Given the description of an element on the screen output the (x, y) to click on. 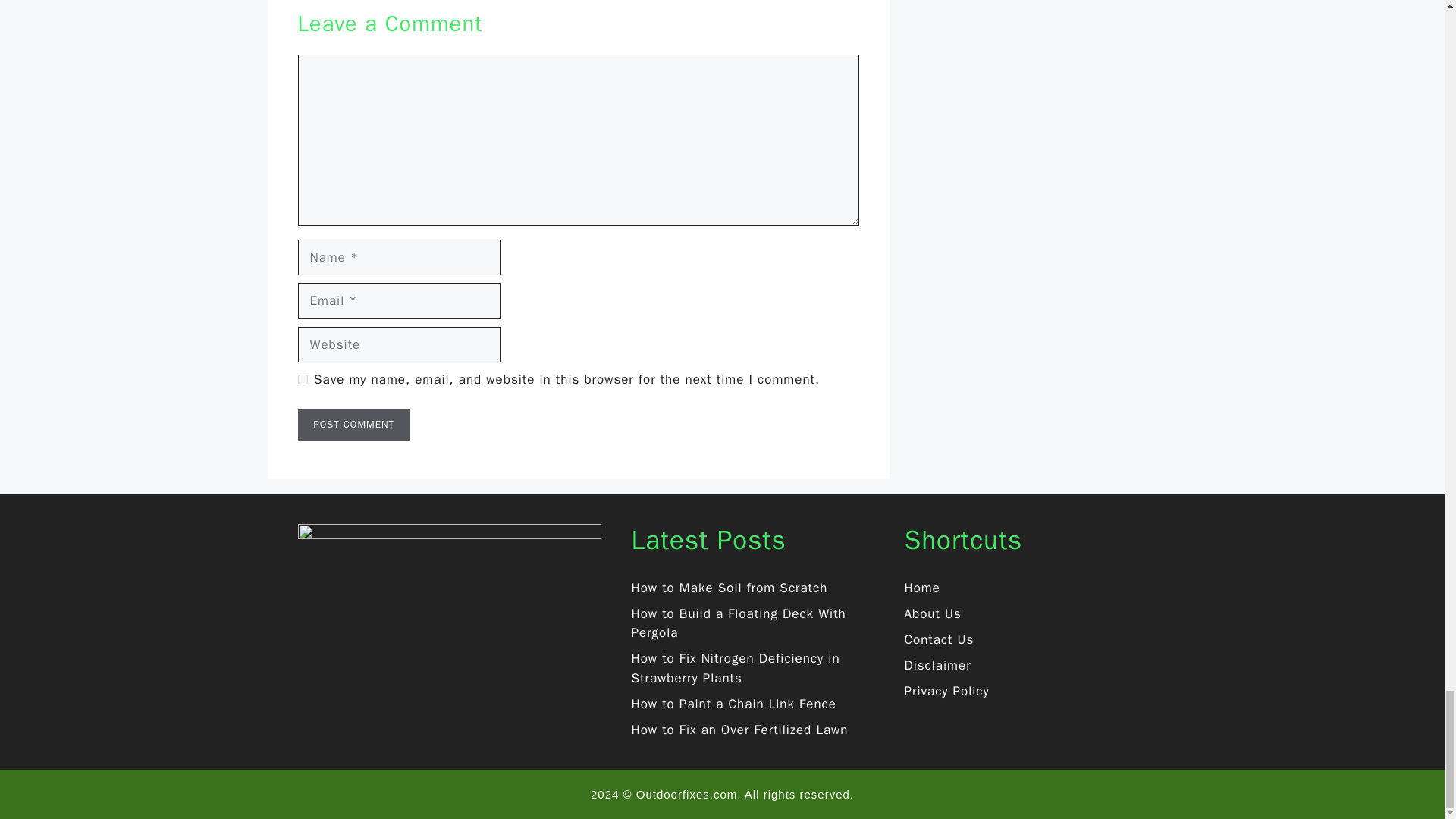
Home (921, 587)
How to Build a Floating Deck With Pergola (737, 623)
Post Comment (353, 424)
How to Fix an Over Fertilized Lawn (738, 729)
How to Paint a Chain Link Fence (732, 703)
How to Fix Nitrogen Deficiency in Strawberry Plants (735, 668)
How to Make Soil from Scratch (728, 587)
yes (302, 379)
Post Comment (353, 424)
About Us (932, 613)
